Given the description of an element on the screen output the (x, y) to click on. 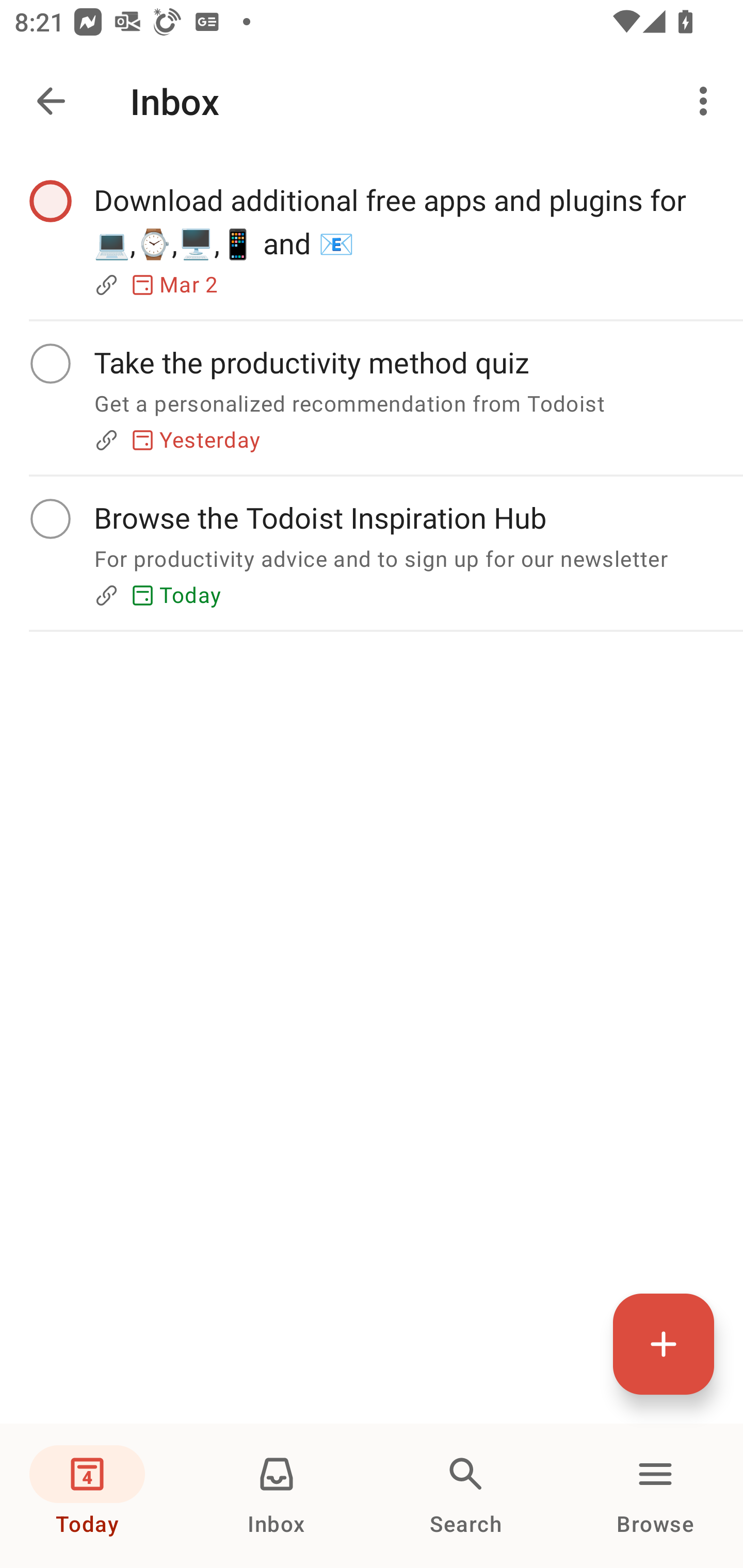
Navigate up Inbox More options (371, 100)
Navigate up (50, 101)
More options (706, 101)
Complete (50, 200)
Complete (50, 363)
Complete (50, 518)
Quick add (663, 1343)
Inbox (276, 1495)
Search (465, 1495)
Browse (655, 1495)
